Given the description of an element on the screen output the (x, y) to click on. 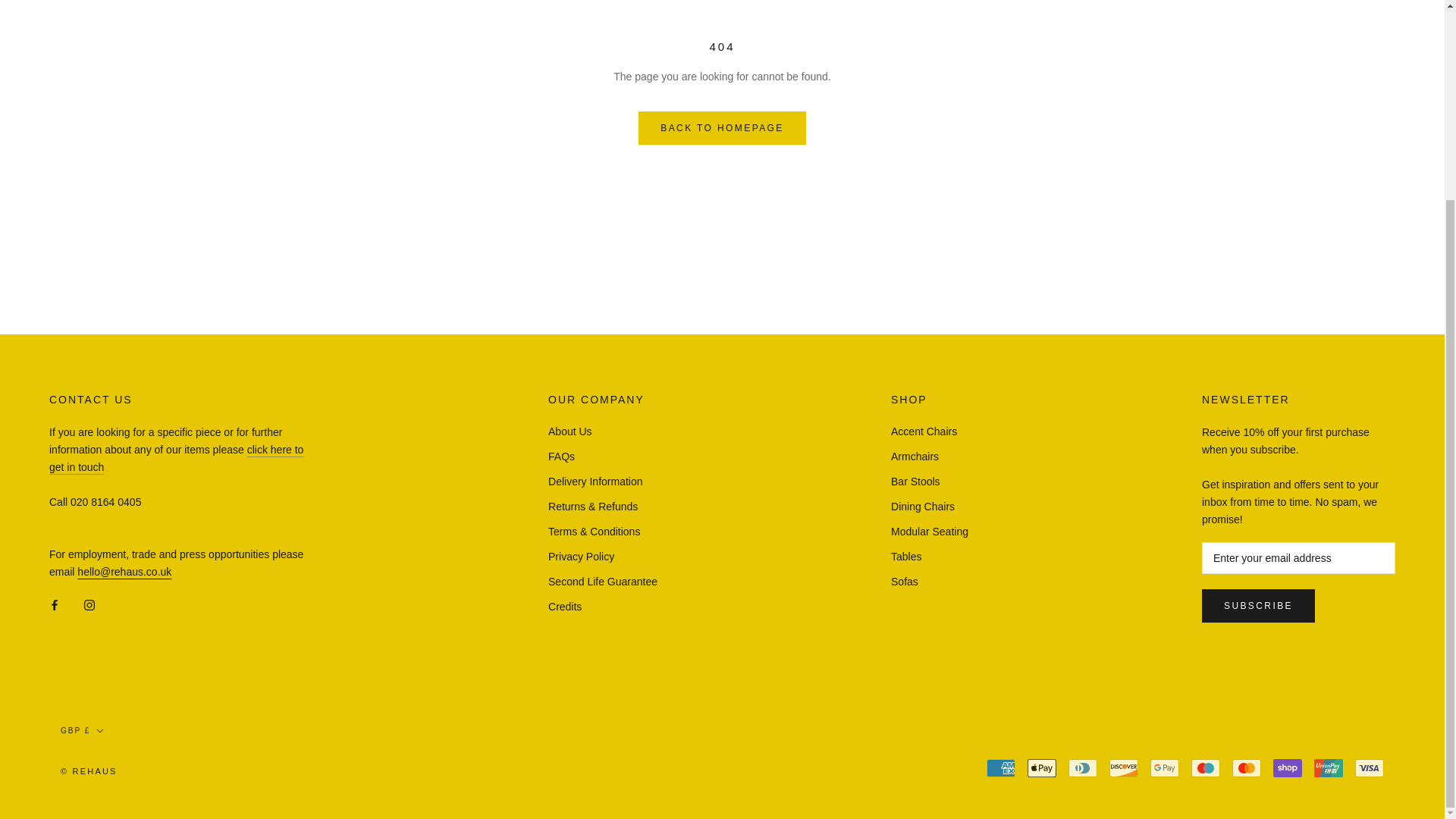
Google Pay (1164, 768)
Visa (1369, 768)
Apple Pay (1042, 768)
Diners Club (1082, 768)
Union Pay (1328, 768)
Maestro (1205, 768)
Shop Pay (1286, 768)
Contact (175, 458)
American Express (1000, 768)
Mastercard (1245, 768)
Discover (1123, 768)
